Given the description of an element on the screen output the (x, y) to click on. 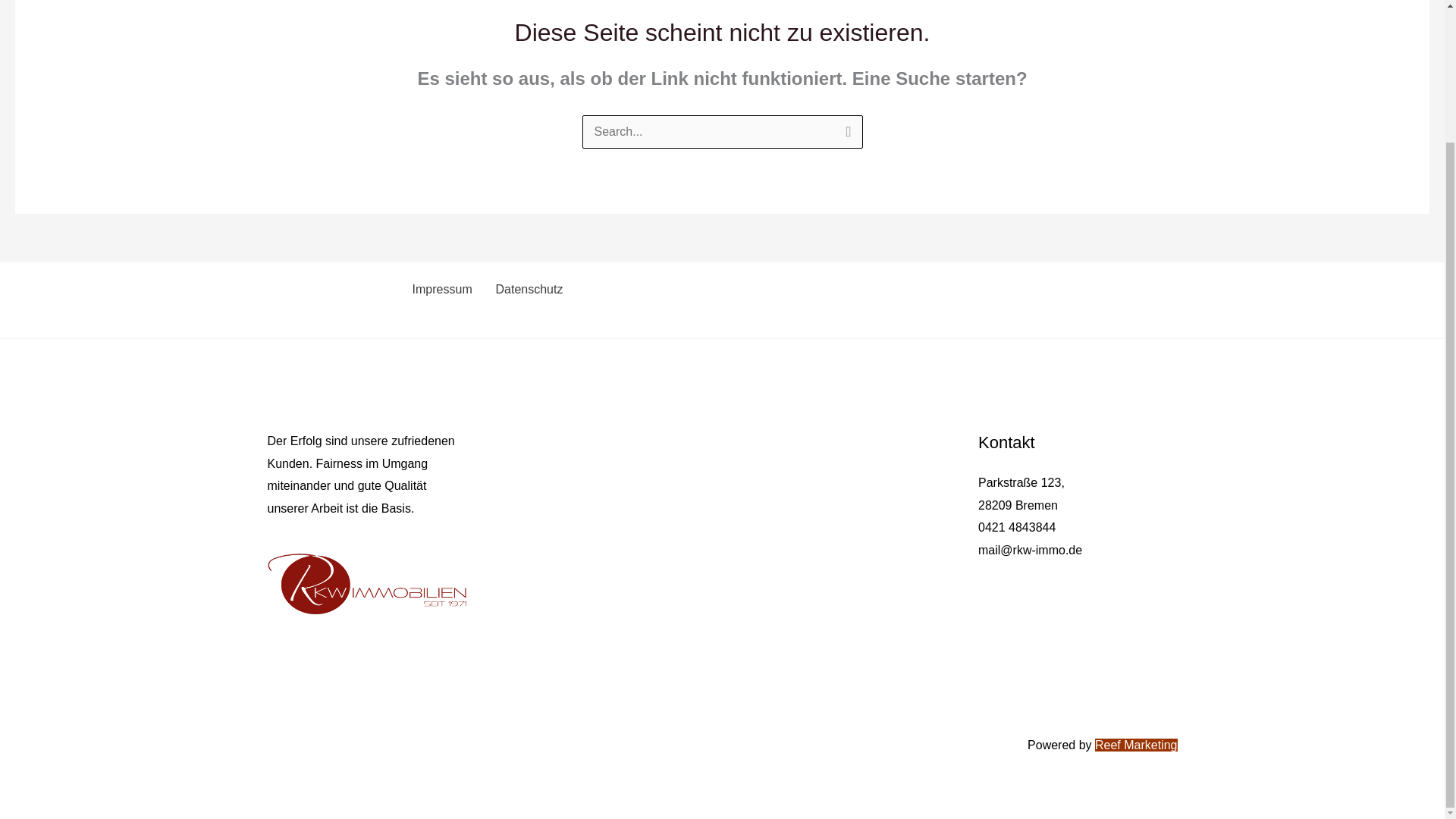
0421 4843844 (1016, 526)
Reef Marketing (1135, 744)
28209 Bremen (1018, 504)
Datenschutz (526, 289)
Impressum (440, 289)
